Given the description of an element on the screen output the (x, y) to click on. 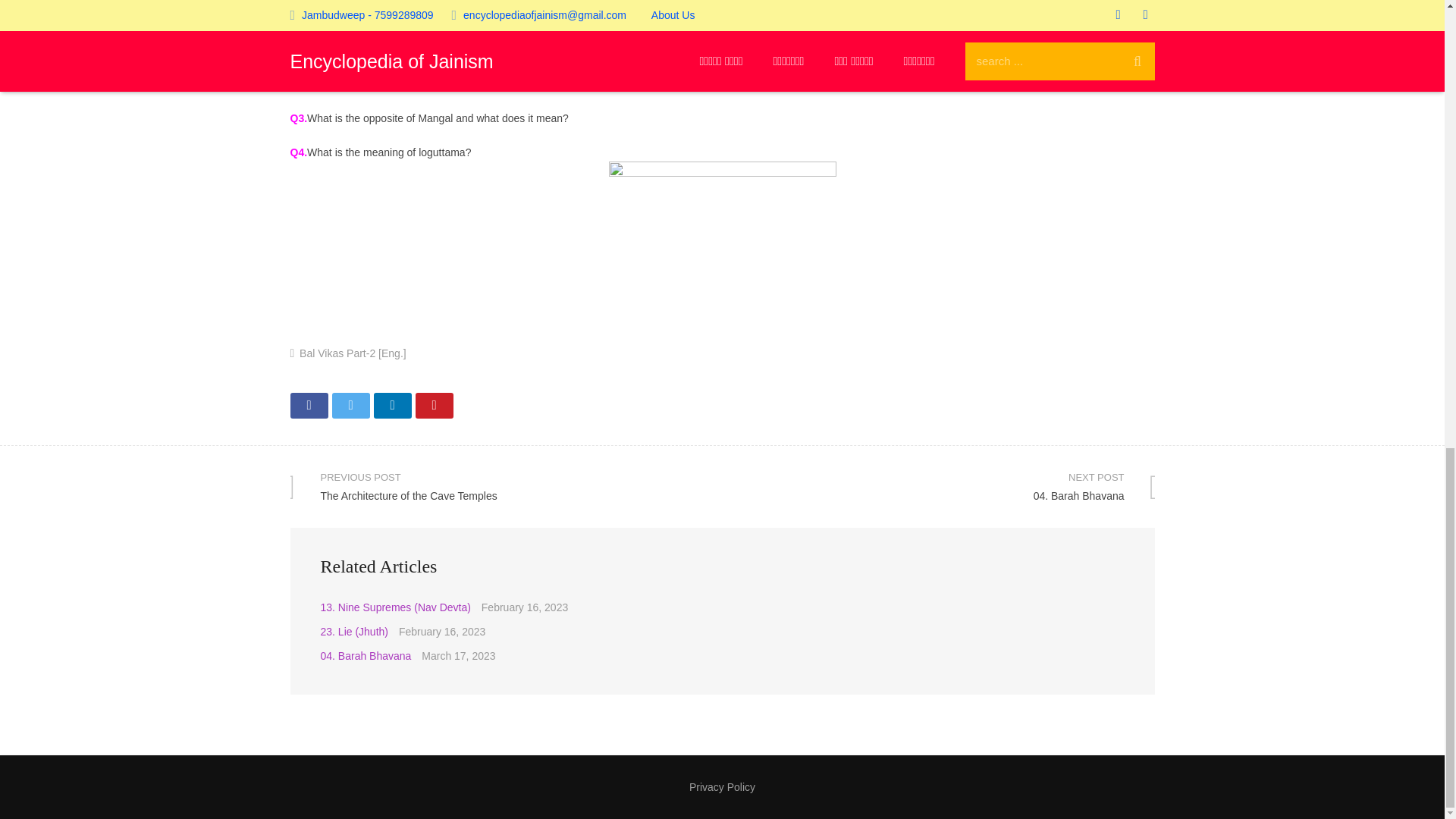
Tweet this (350, 405)
Share this (308, 405)
Privacy Policy (721, 787)
Share this (505, 486)
04. Barah Bhavana (391, 405)
Pin this (365, 655)
